Given the description of an element on the screen output the (x, y) to click on. 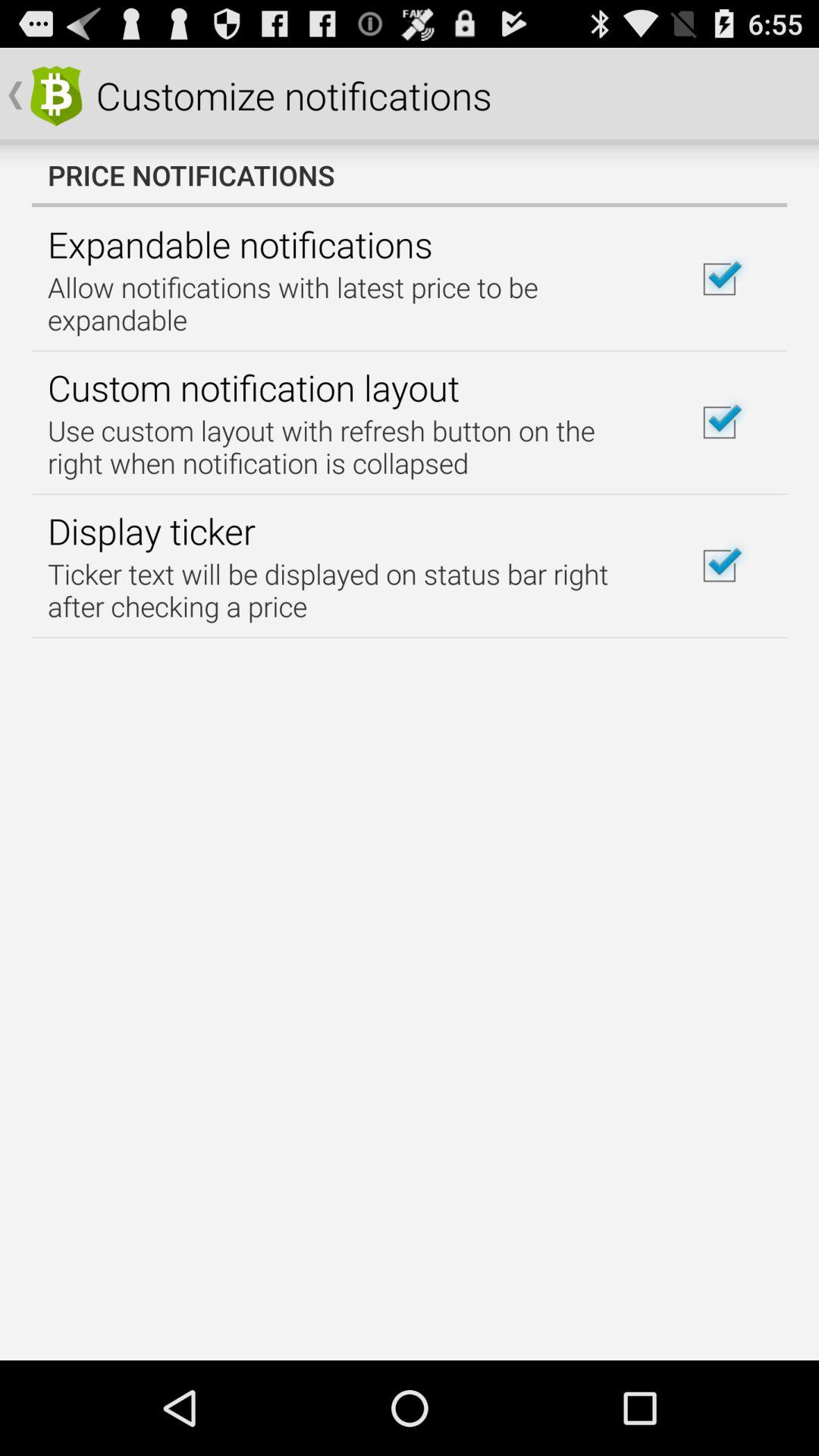
choose the icon at the center (351, 590)
